Given the description of an element on the screen output the (x, y) to click on. 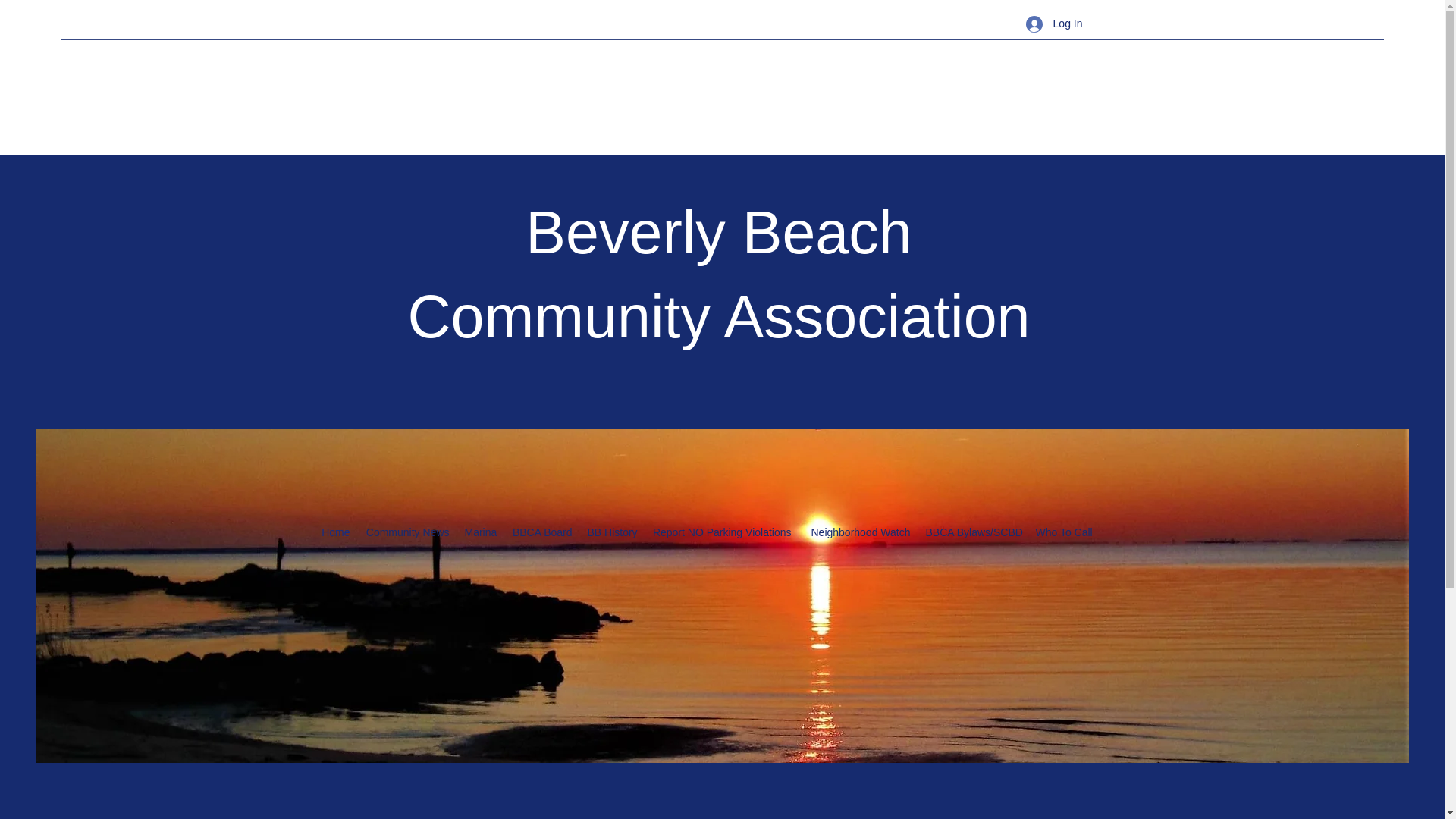
Report NO Parking Violations (722, 531)
Neighborhood Watch (858, 531)
Community News (407, 531)
Who To Call (1063, 531)
BBCA Board (541, 531)
Log In (1053, 23)
Home (336, 531)
BB History (611, 531)
Marina (480, 531)
